Given the description of an element on the screen output the (x, y) to click on. 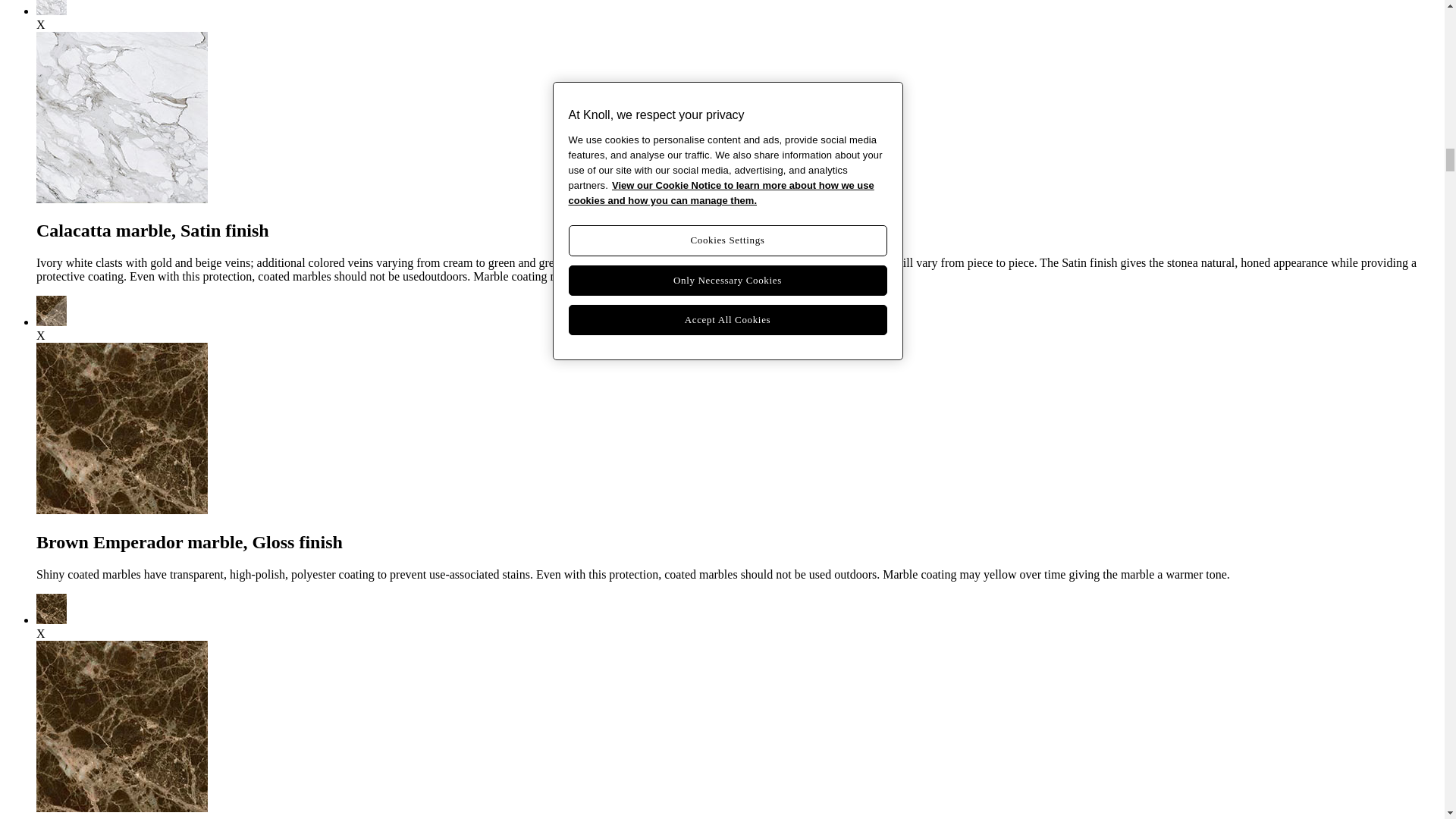
Calacatta marble, Satin finish (51, 10)
Brown Emperador marble, Satin finish (51, 619)
Brown Emperador marble, Gloss finish (51, 321)
